Given the description of an element on the screen output the (x, y) to click on. 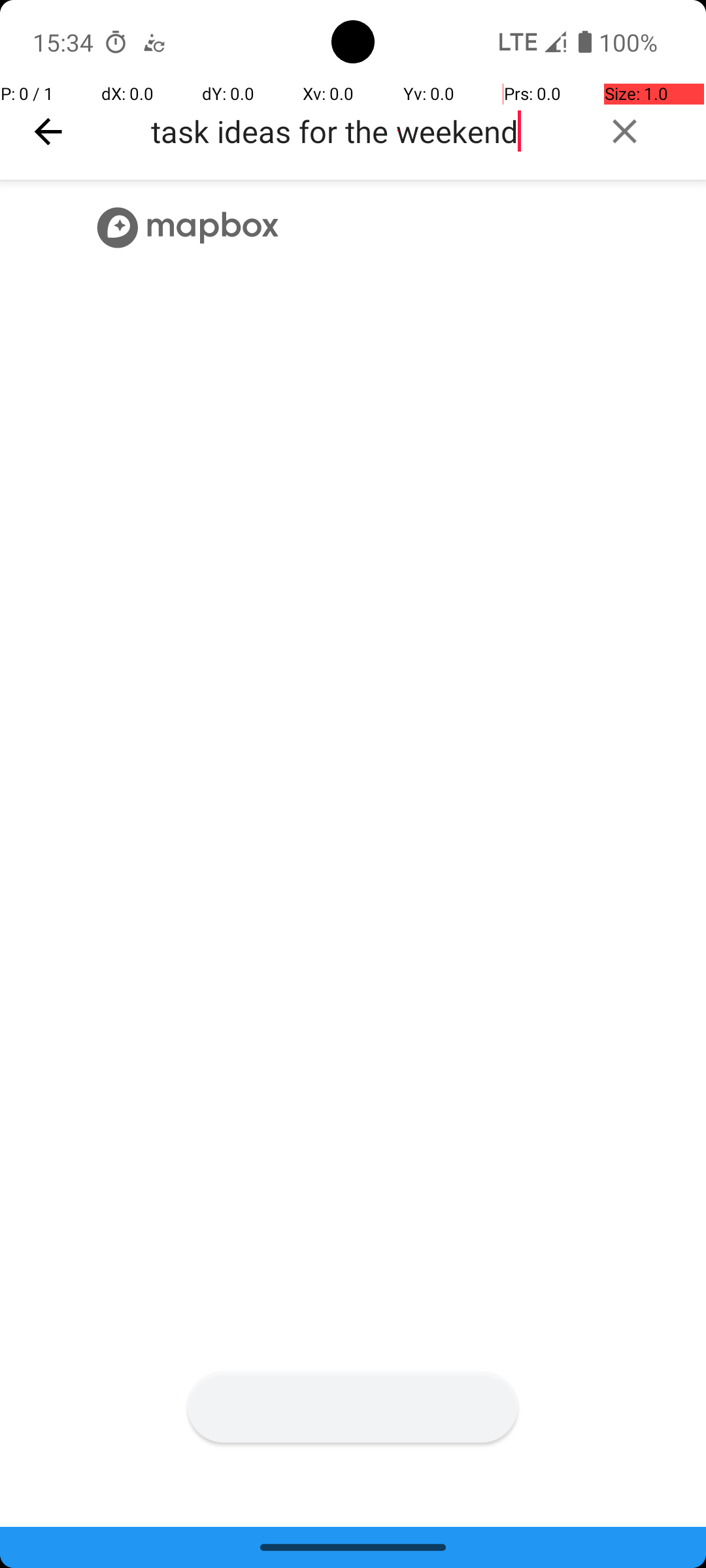
task ideas for the weekend Element type: android.widget.AutoCompleteTextView (363, 130)
